Given the description of an element on the screen output the (x, y) to click on. 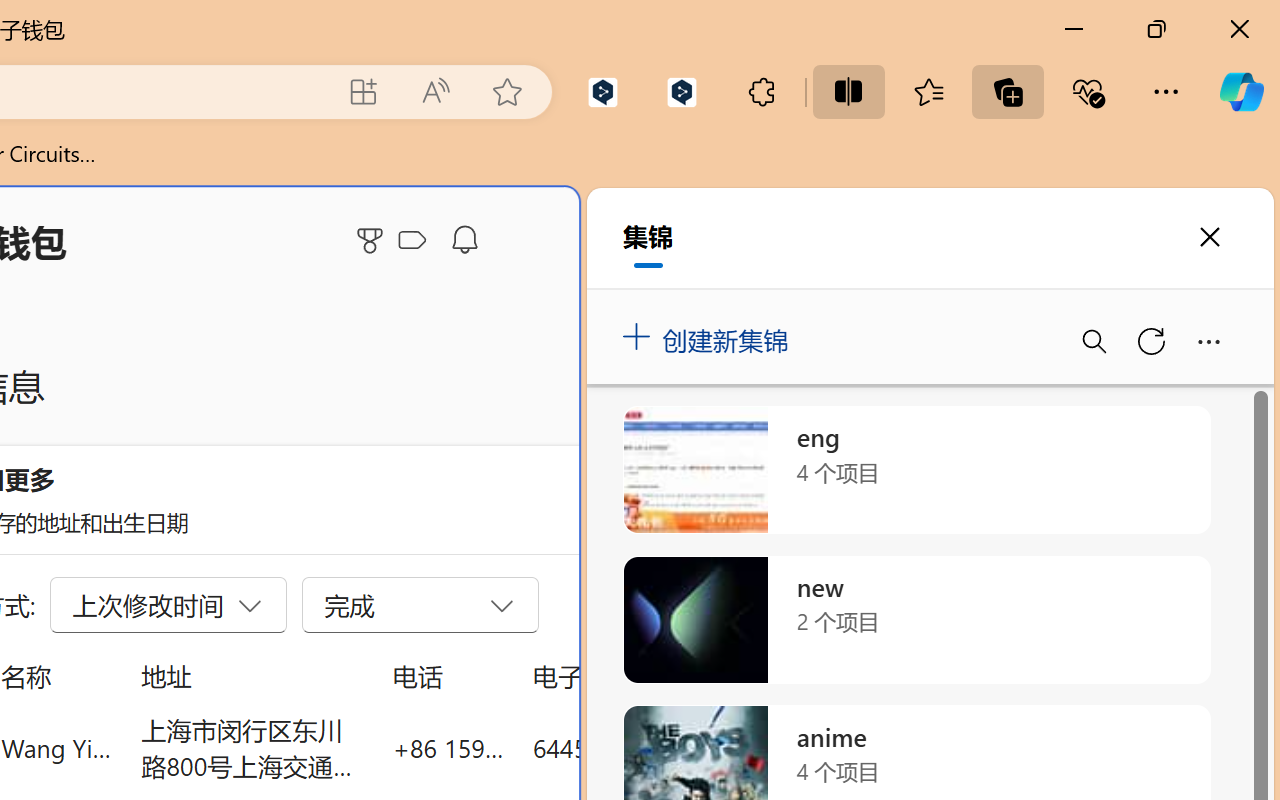
+86 159 0032 4640 (447, 747)
Microsoft Rewards (373, 240)
Copilot (Ctrl+Shift+.) (1241, 91)
